Given the description of an element on the screen output the (x, y) to click on. 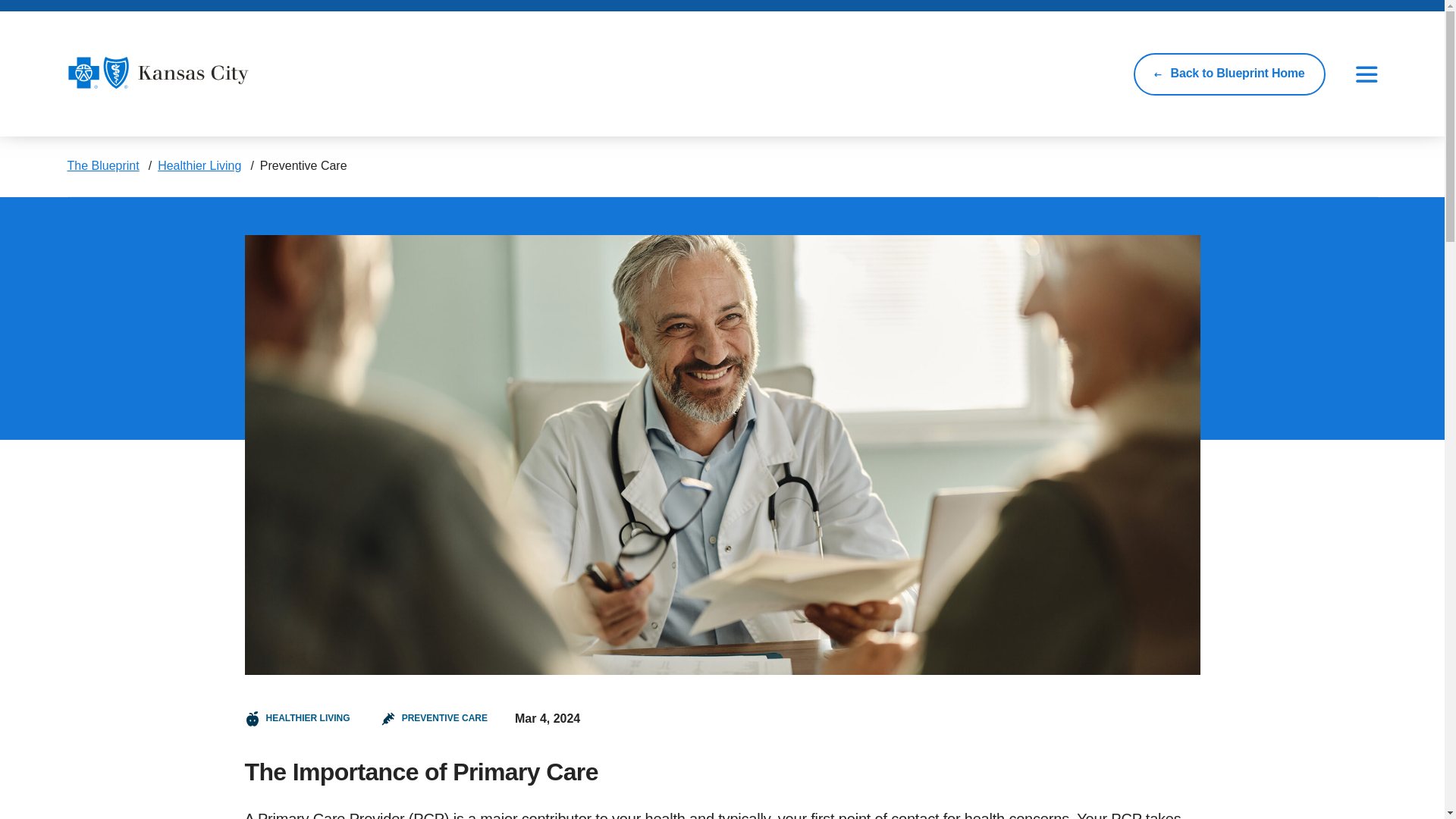
Back to Blueprint Home (1229, 74)
The Blueprint (102, 165)
Healthier Living (199, 165)
